Given the description of an element on the screen output the (x, y) to click on. 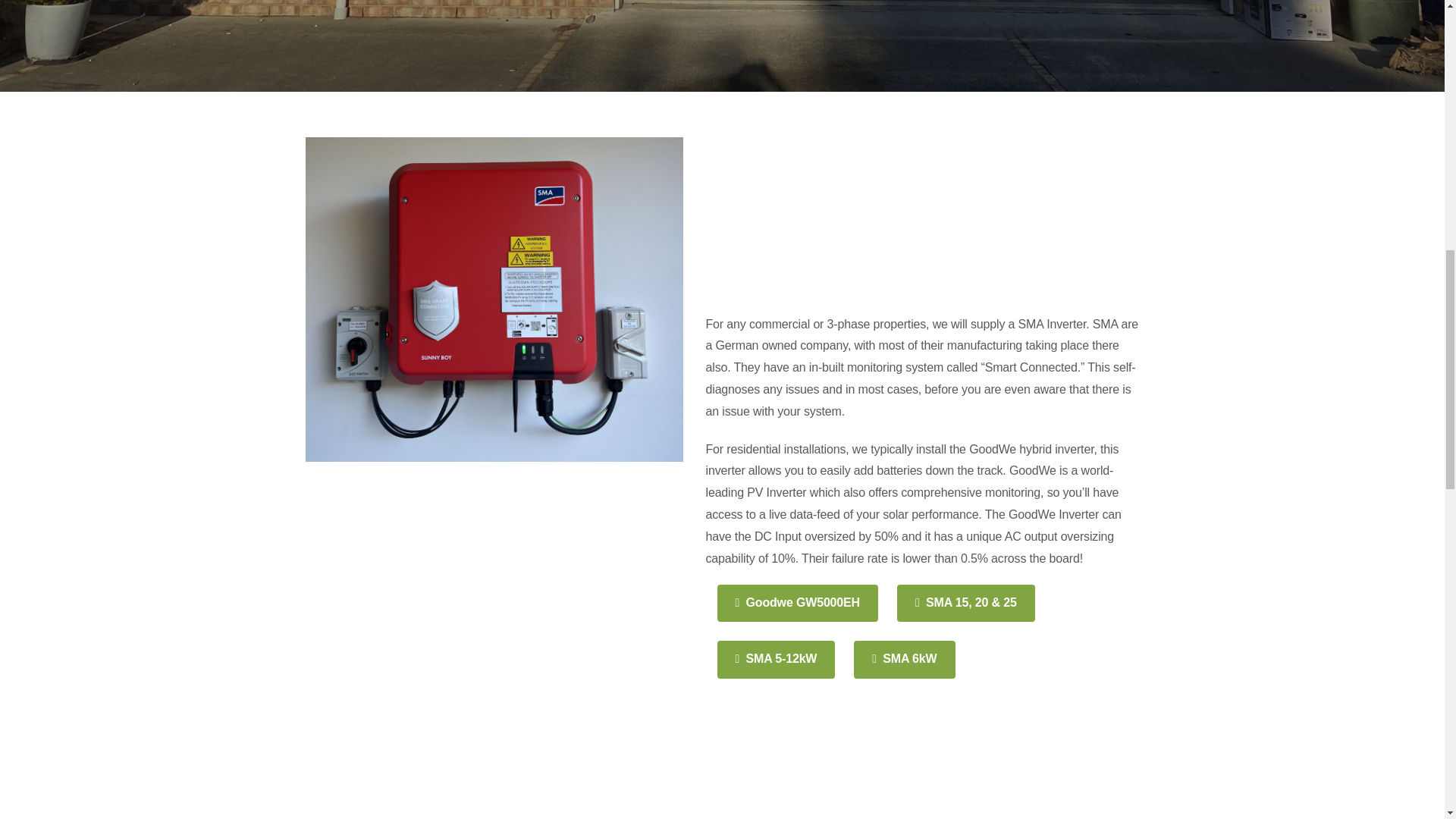
SMA 5-12kW (776, 659)
Goodwe GW5000EH (798, 602)
SMA 6kW (904, 659)
